Given the description of an element on the screen output the (x, y) to click on. 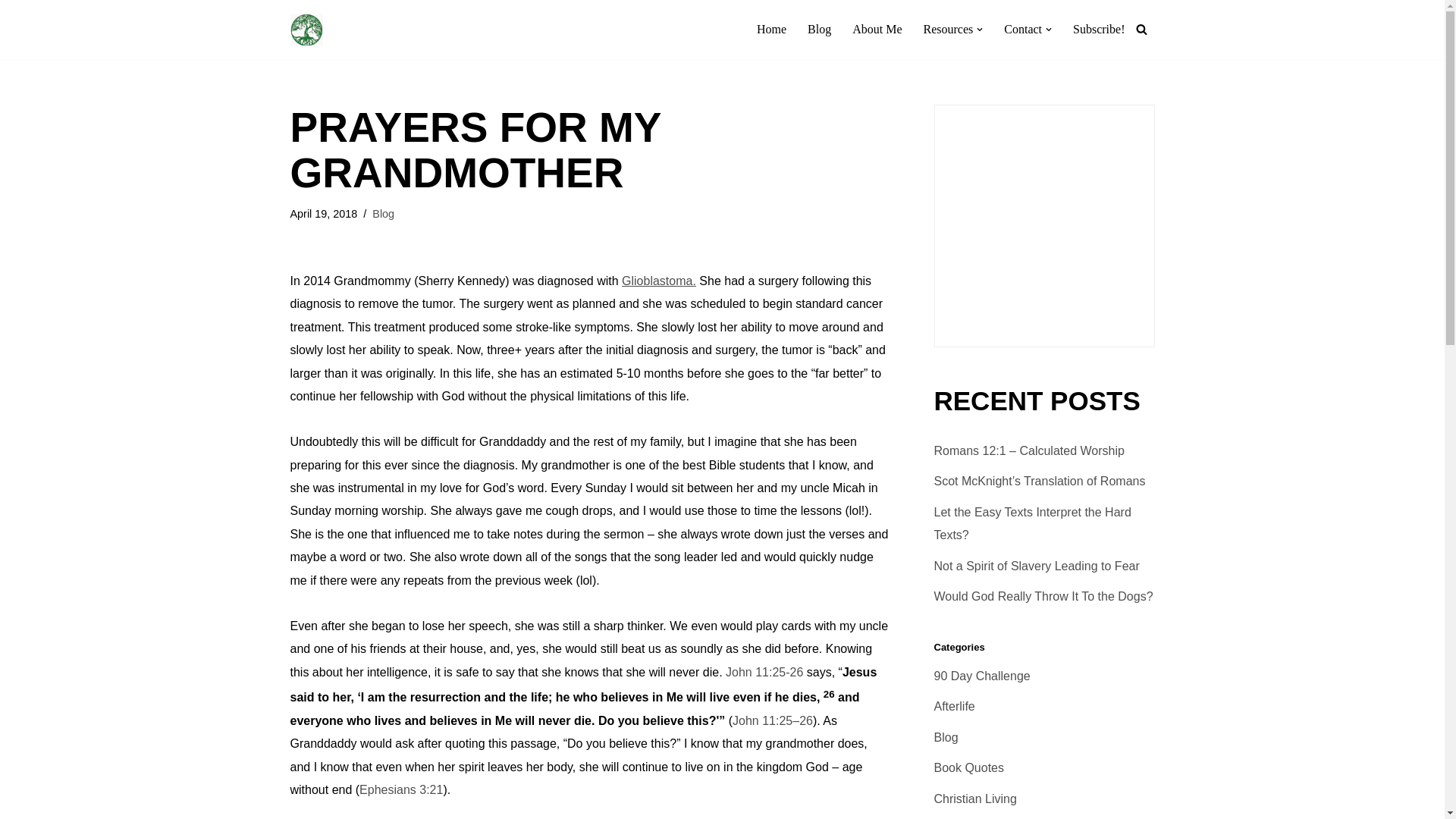
Blog (819, 28)
Resources (948, 28)
Home (771, 28)
Contact (1023, 28)
About Me (876, 28)
Ephesians 3:21 (400, 789)
John 11:25-26 (764, 671)
Subscribe! (1098, 28)
Skip to content (11, 31)
Glioblastoma. (658, 280)
Blog (383, 214)
